Given the description of an element on the screen output the (x, y) to click on. 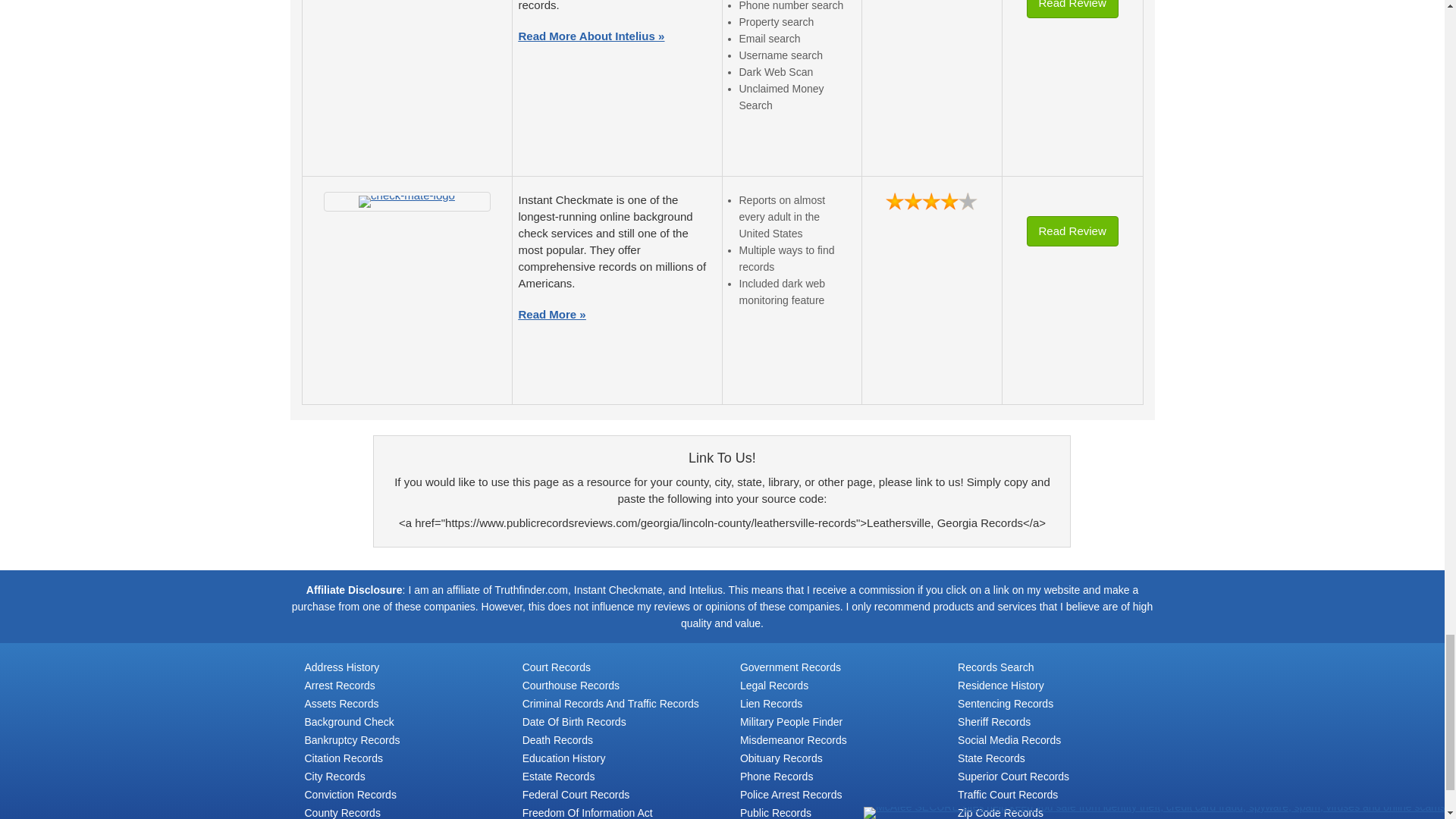
Instant Checkmate (406, 201)
